Given the description of an element on the screen output the (x, y) to click on. 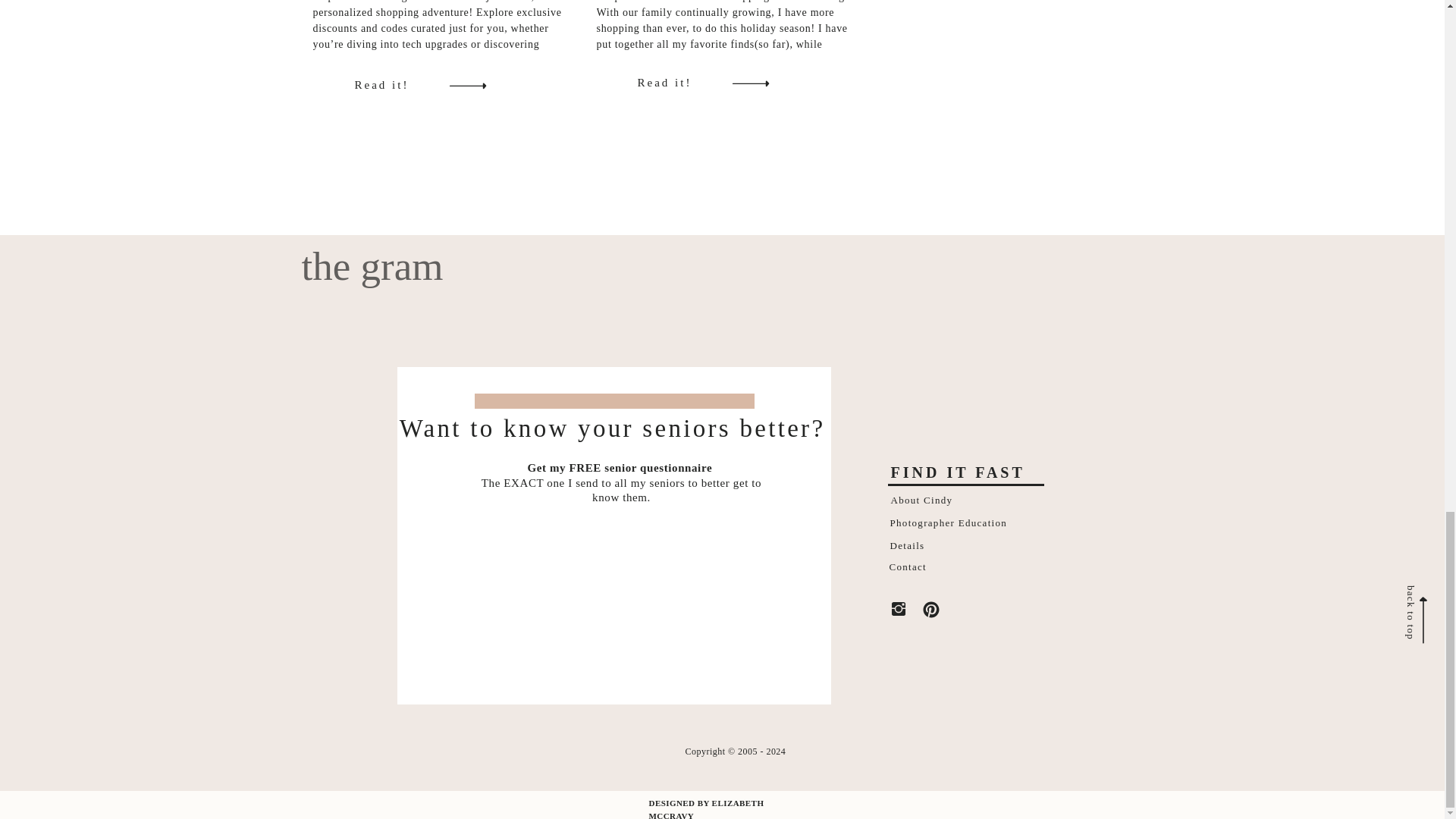
Read it! (400, 84)
Black Friday and Cyber Week Deals (400, 84)
Read it! (681, 82)
Black Friday and Cyber Week Deals (466, 84)
